Given the description of an element on the screen output the (x, y) to click on. 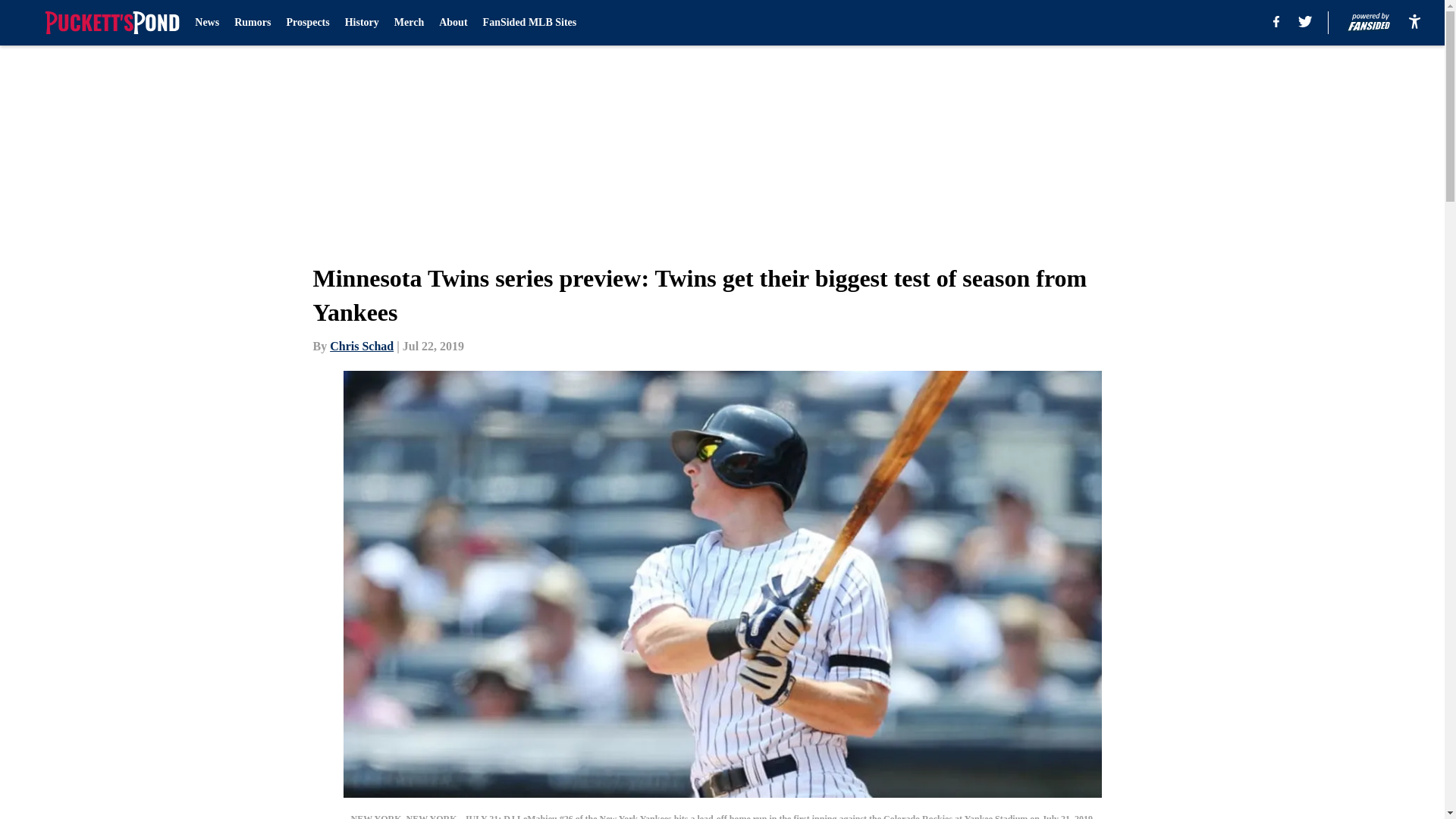
Chris Schad (361, 345)
About (453, 22)
FanSided MLB Sites (529, 22)
News (207, 22)
Prospects (307, 22)
Merch (408, 22)
History (361, 22)
Rumors (252, 22)
